Given the description of an element on the screen output the (x, y) to click on. 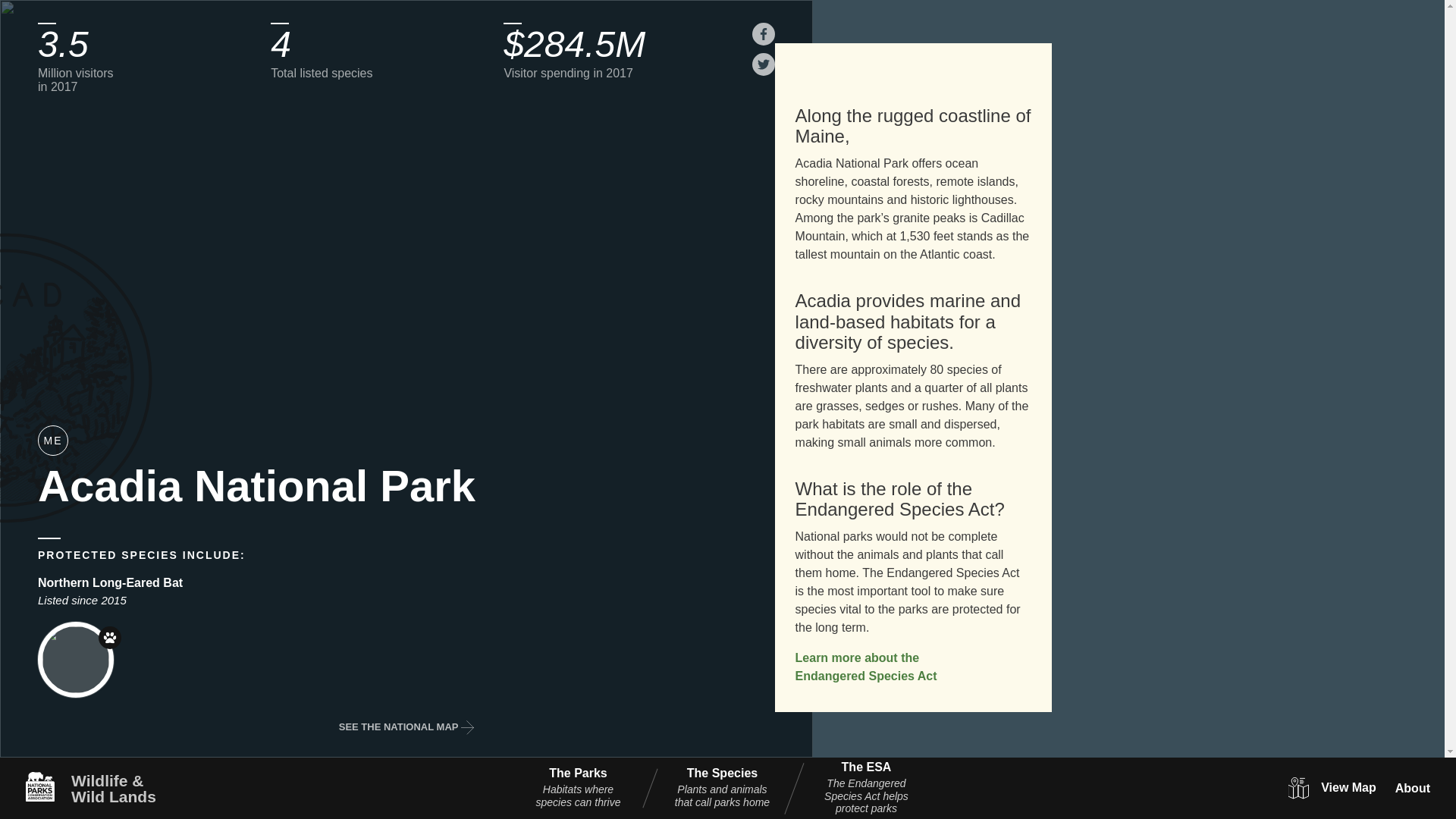
Northern Long-Eared Bat (150, 582)
Share on Facebook (763, 33)
Share on Facebook (763, 33)
Share on Twitter (763, 64)
SEE THE NATIONAL MAP (406, 727)
Learn more about the Endangered Species Act (865, 666)
Share on Twitter (763, 64)
